Given the description of an element on the screen output the (x, y) to click on. 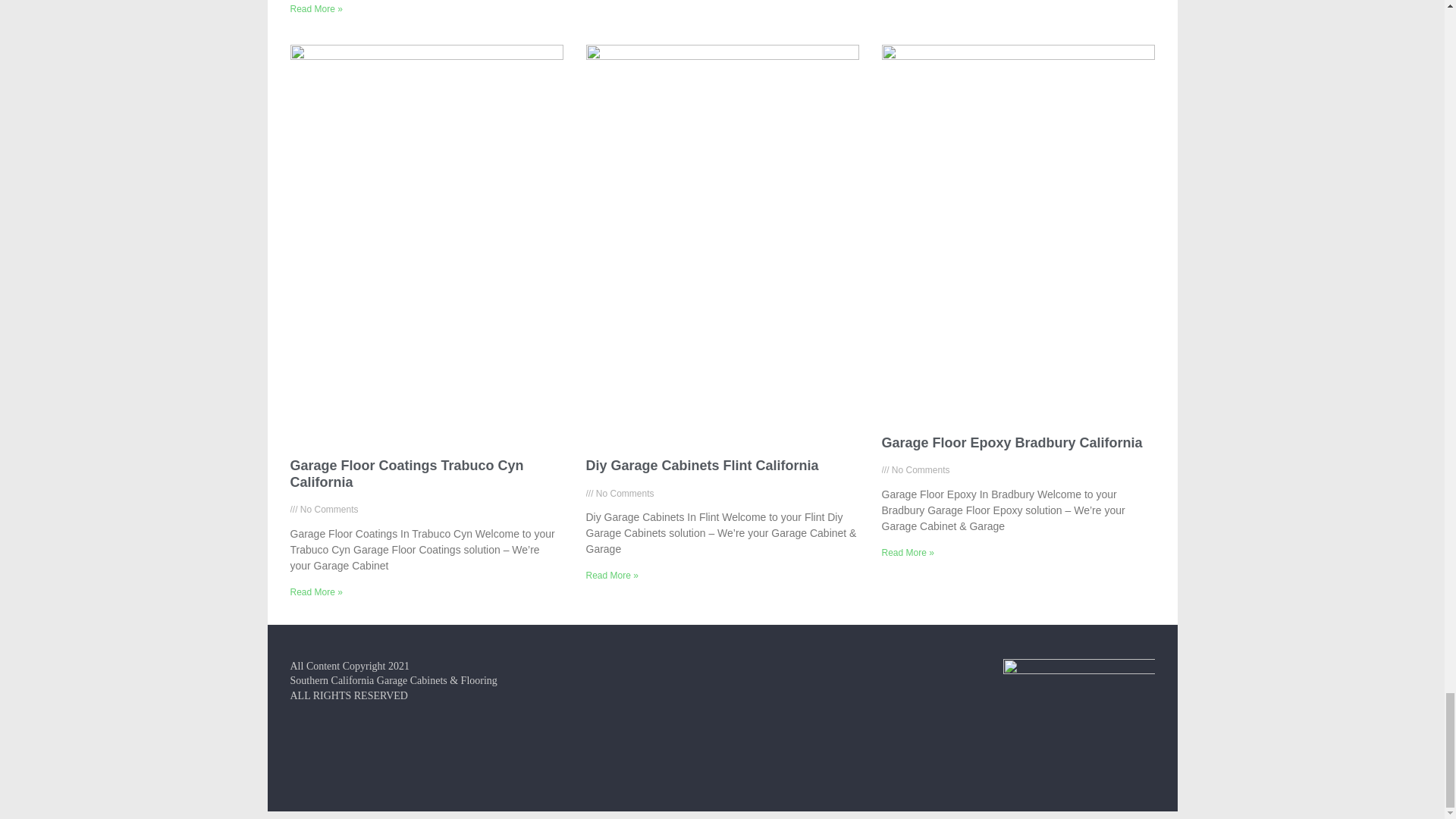
Diy Garage Cabinets Flint California (701, 465)
Garage Floor Coatings Trabuco Cyn California (405, 473)
Garage Floor Epoxy Bradbury California (1010, 442)
